Given the description of an element on the screen output the (x, y) to click on. 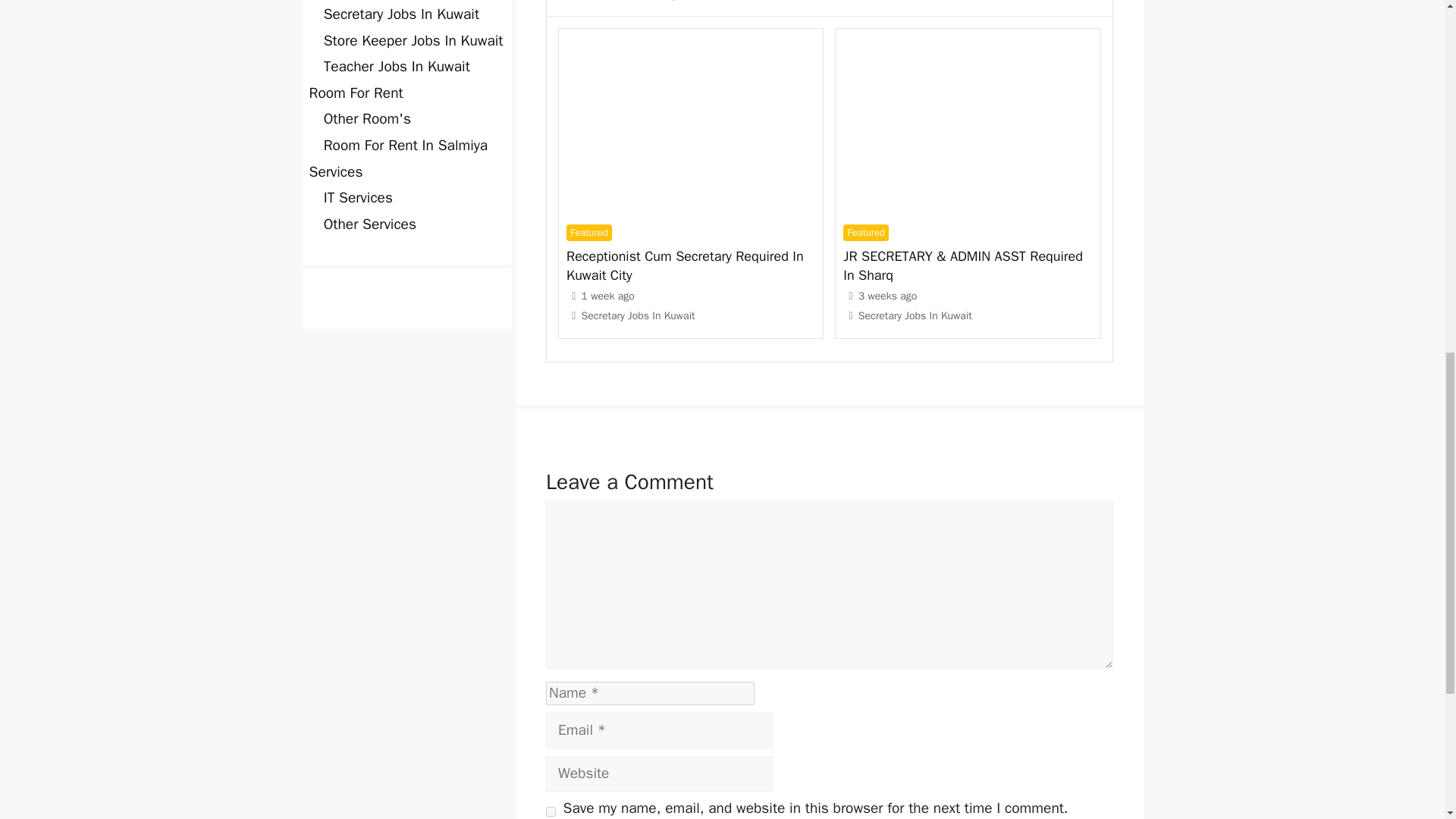
Scroll back to top (1406, 720)
Secretary Jobs In Kuwait (637, 315)
yes (551, 811)
Receptionist Cum Secretary Required In Kuwait City (684, 265)
